Given the description of an element on the screen output the (x, y) to click on. 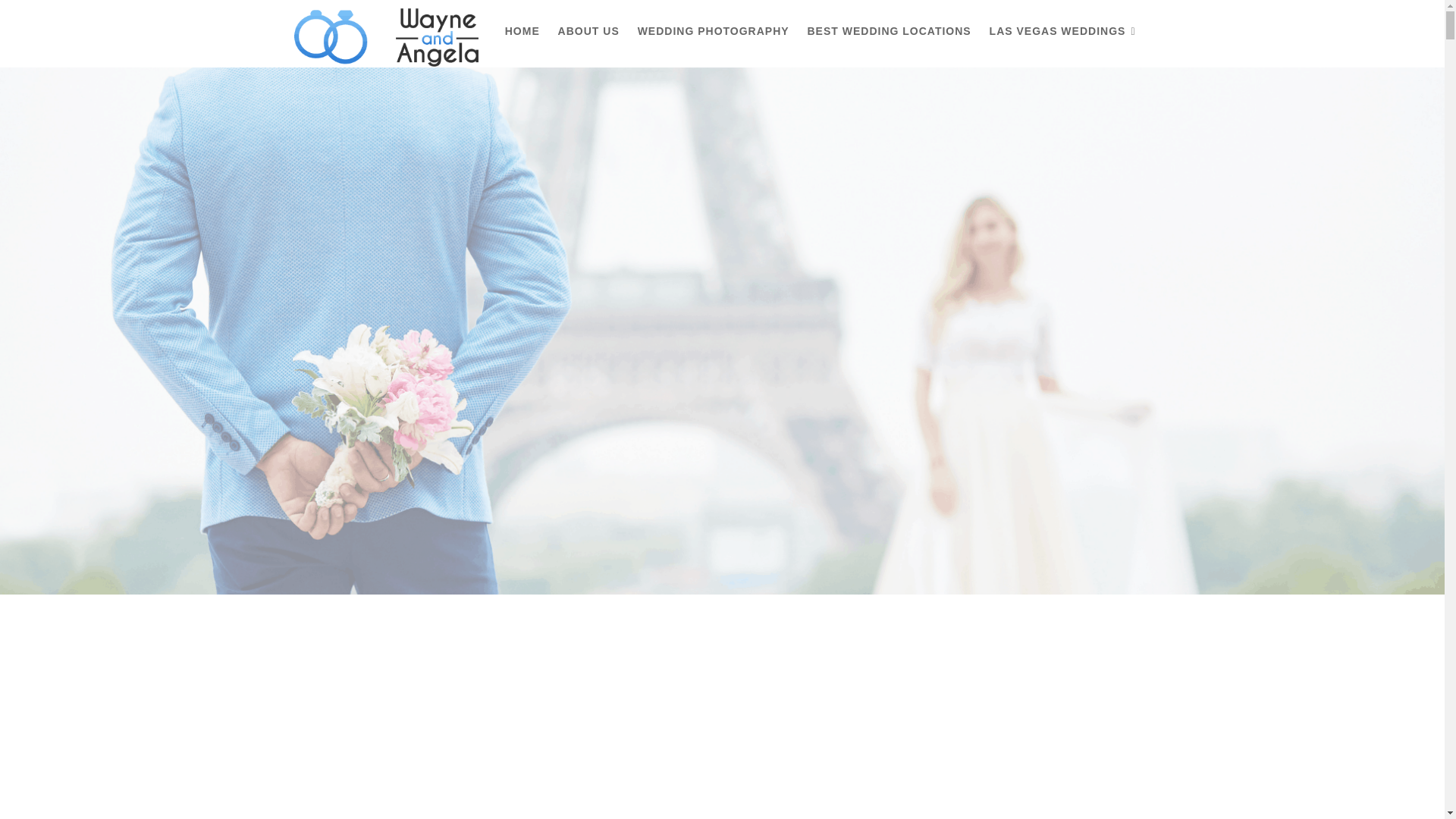
BEST WEDDING LOCATIONS (888, 30)
ABOUT US (588, 30)
LAS VEGAS WEDDINGS (1061, 31)
WEDDING PHOTOGRAPHY (713, 30)
